Given the description of an element on the screen output the (x, y) to click on. 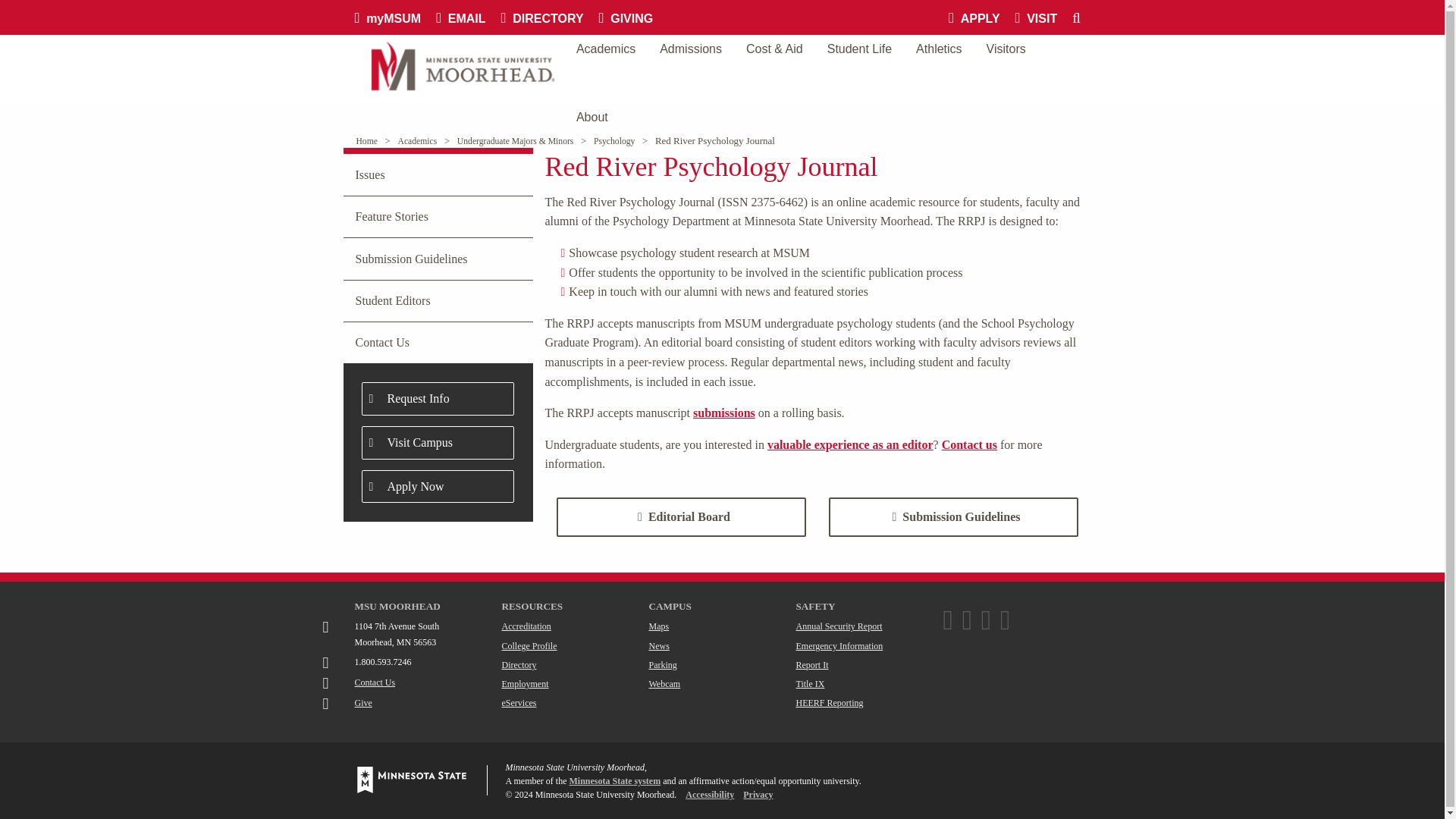
Parking (663, 665)
VISIT (1043, 17)
Contact Us (375, 682)
Give to MSUM Student Scholarships (363, 702)
GIVING (633, 17)
College Profile (529, 645)
Maps (659, 625)
Emergency (839, 645)
Accreditation (526, 625)
myMSUM (395, 17)
